Given the description of an element on the screen output the (x, y) to click on. 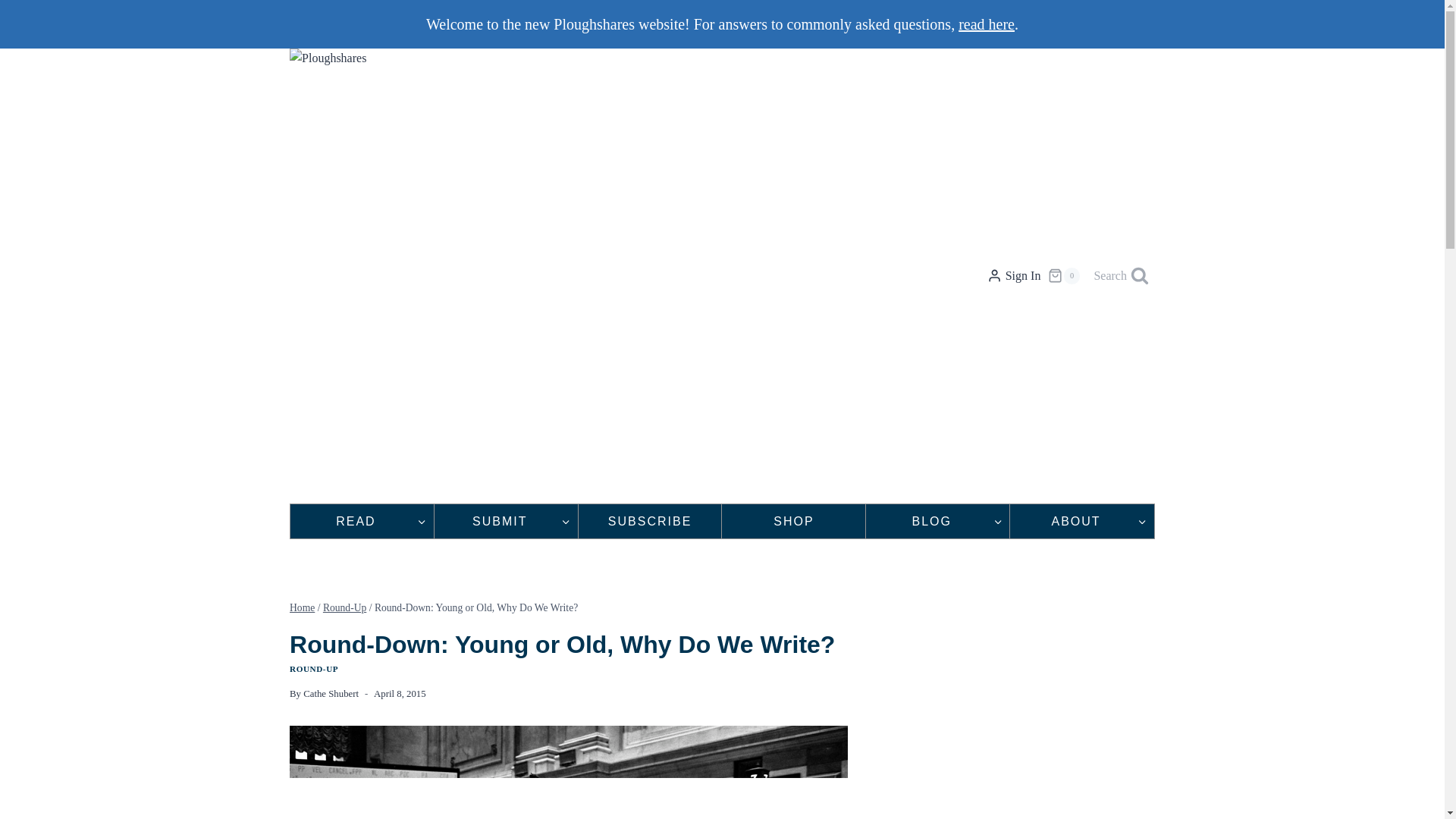
Search (1120, 275)
BLOG (937, 521)
READ (361, 521)
0 (1064, 275)
Sign In (1014, 276)
ABOUT (1082, 521)
SHOP (793, 521)
SUBSCRIBE (650, 521)
read here (986, 23)
SUBMIT (505, 521)
